Given the description of an element on the screen output the (x, y) to click on. 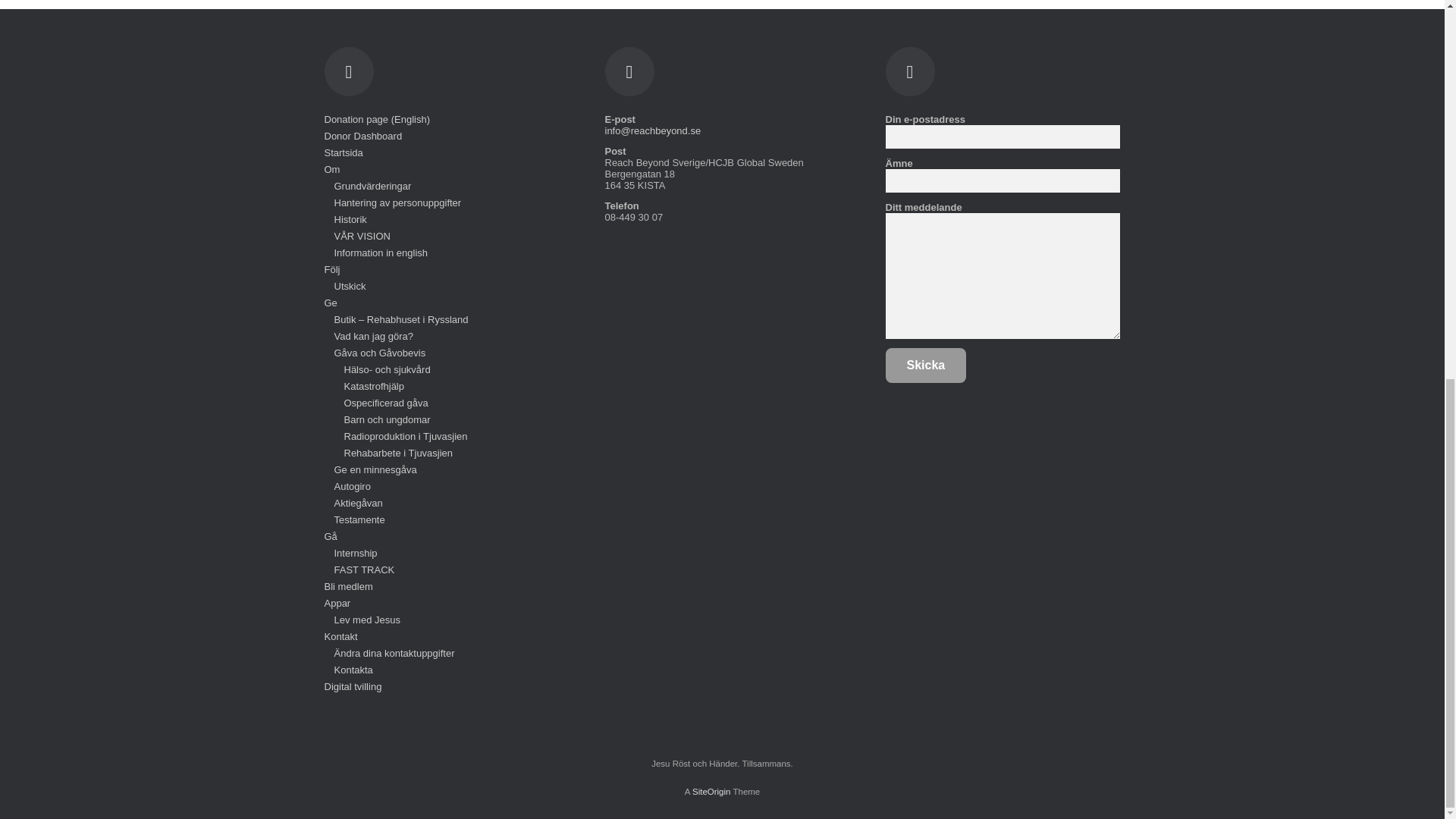
Skicka (925, 365)
